Given the description of an element on the screen output the (x, y) to click on. 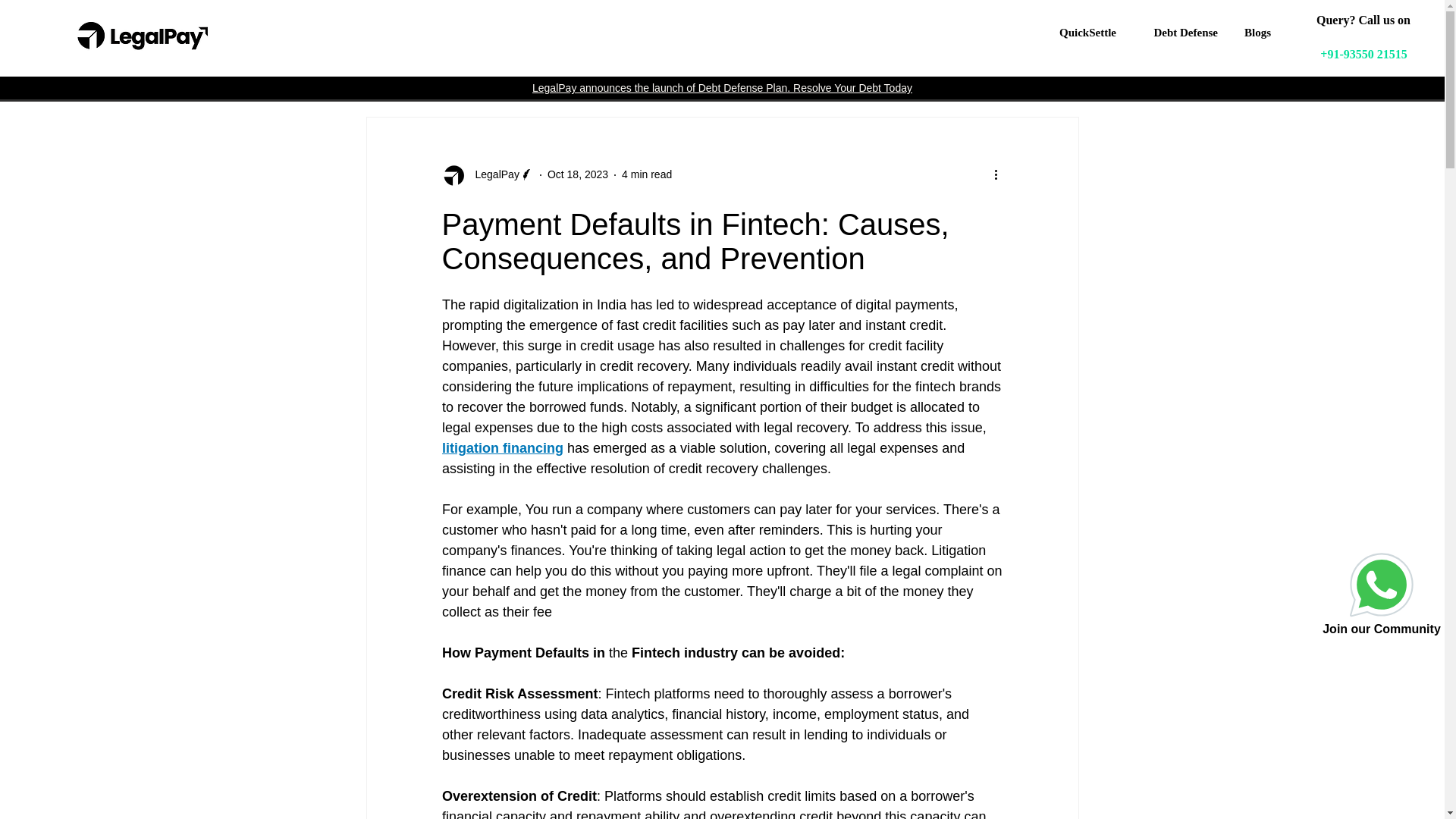
Oct 18, 2023 (577, 174)
4 min read (646, 174)
Blogs (1255, 32)
QuickSettle (1083, 32)
Debt Defense (1177, 32)
litigation financing (501, 447)
LegalPay (486, 174)
LegalPay (491, 174)
